Given the description of an element on the screen output the (x, y) to click on. 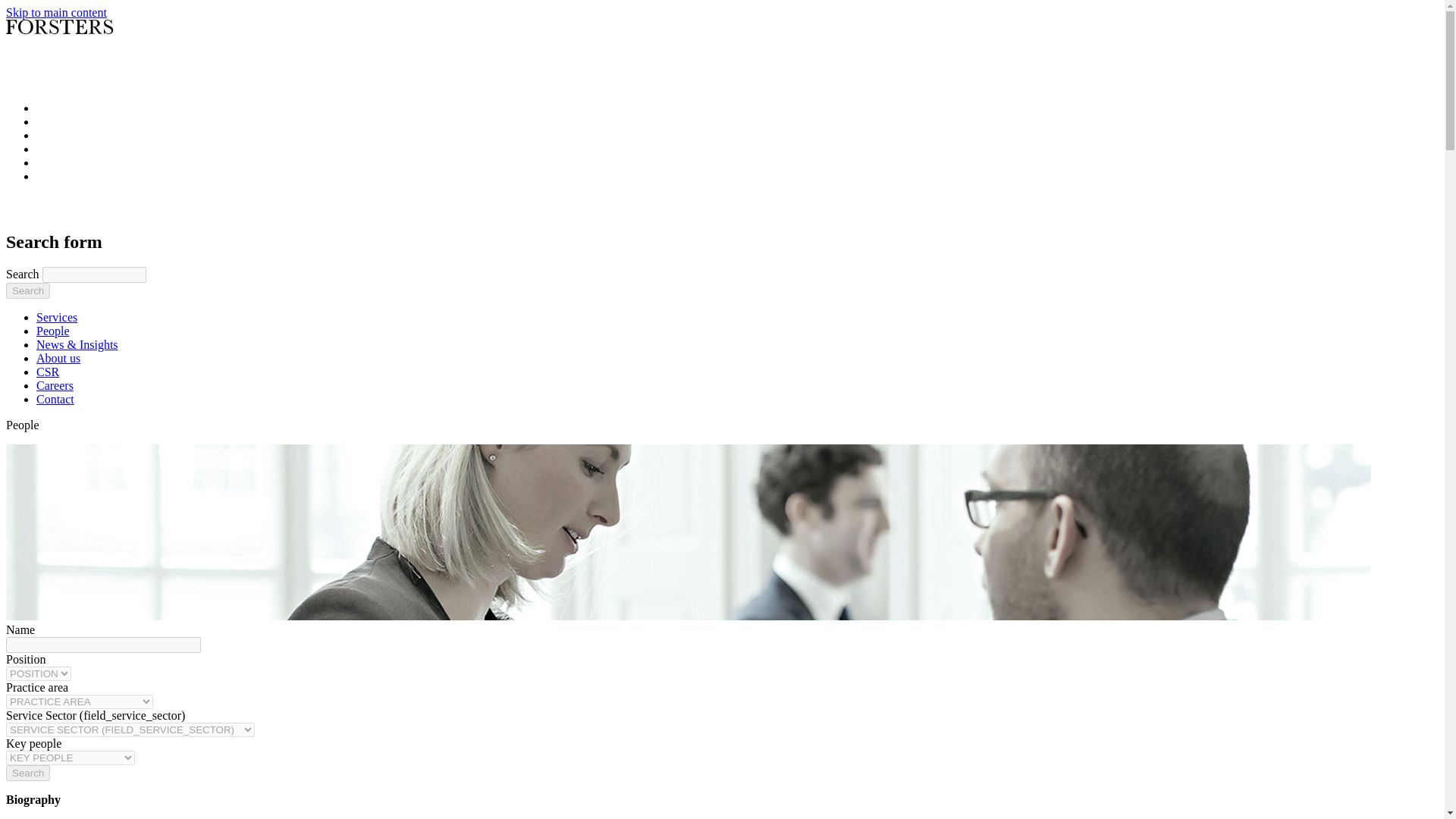
Contact (55, 399)
Enter the terms you wish to search for. (94, 274)
Careers (55, 385)
Home (73, 209)
CSR (47, 371)
Skip to main content (55, 11)
Home (51, 44)
About us (58, 358)
Services (56, 317)
Search (27, 290)
